Given the description of an element on the screen output the (x, y) to click on. 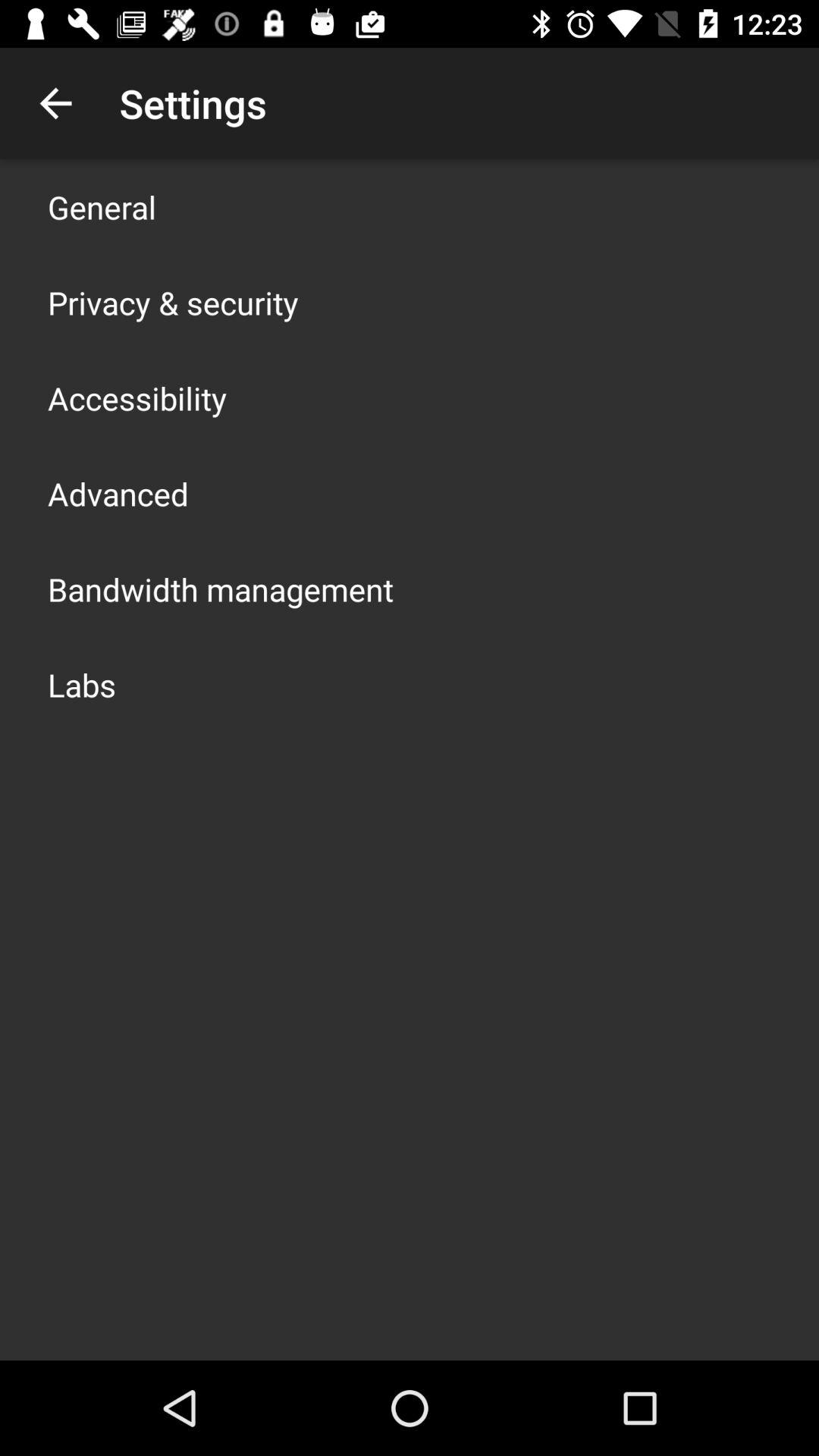
scroll to the labs item (81, 684)
